Given the description of an element on the screen output the (x, y) to click on. 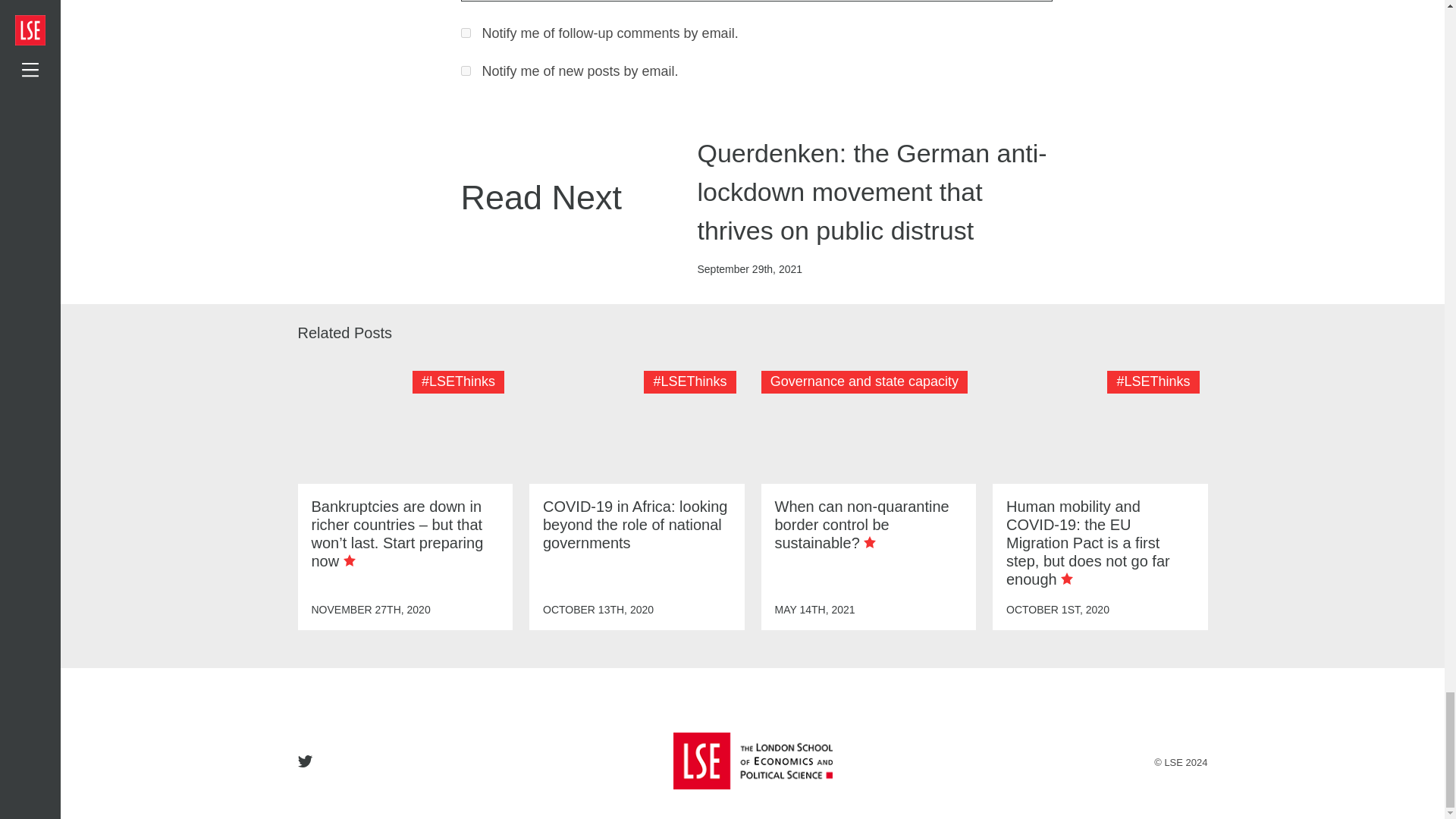
subscribe (465, 32)
subscribe (465, 71)
